Given the description of an element on the screen output the (x, y) to click on. 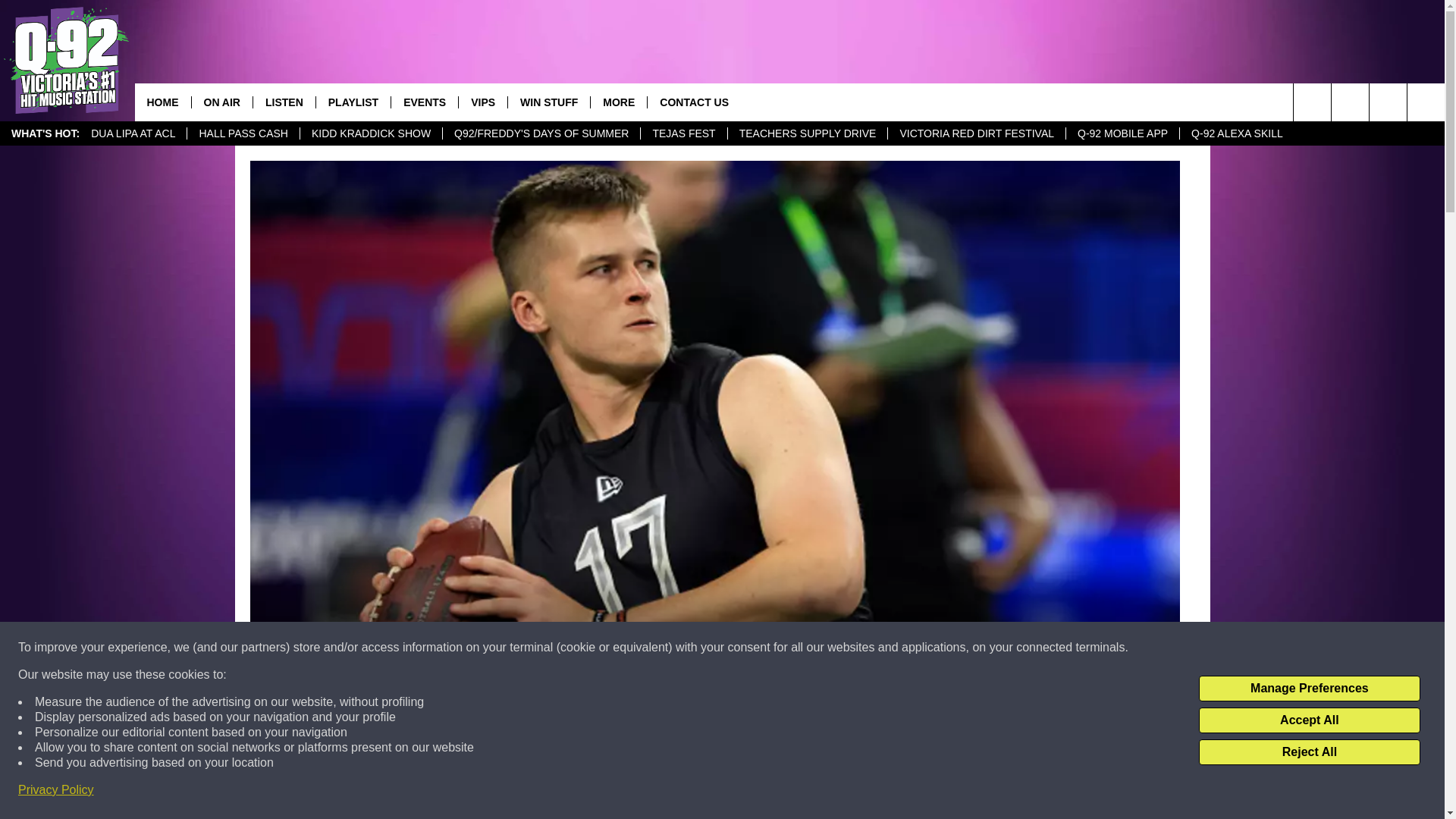
Share on Facebook (517, 791)
PLAYLIST (352, 102)
KIDD KRADDICK SHOW (370, 133)
TEJAS FEST (683, 133)
VIPS (482, 102)
Q-92 MOBILE APP (1122, 133)
WIN STUFF (547, 102)
Privacy Policy (55, 789)
Q-92 ALEXA SKILL (1236, 133)
DUA LIPA AT ACL (133, 133)
EVENTS (424, 102)
Manage Preferences (1309, 688)
VICTORIA RED DIRT FESTIVAL (975, 133)
LISTEN (283, 102)
Share on Twitter (912, 791)
